Given the description of an element on the screen output the (x, y) to click on. 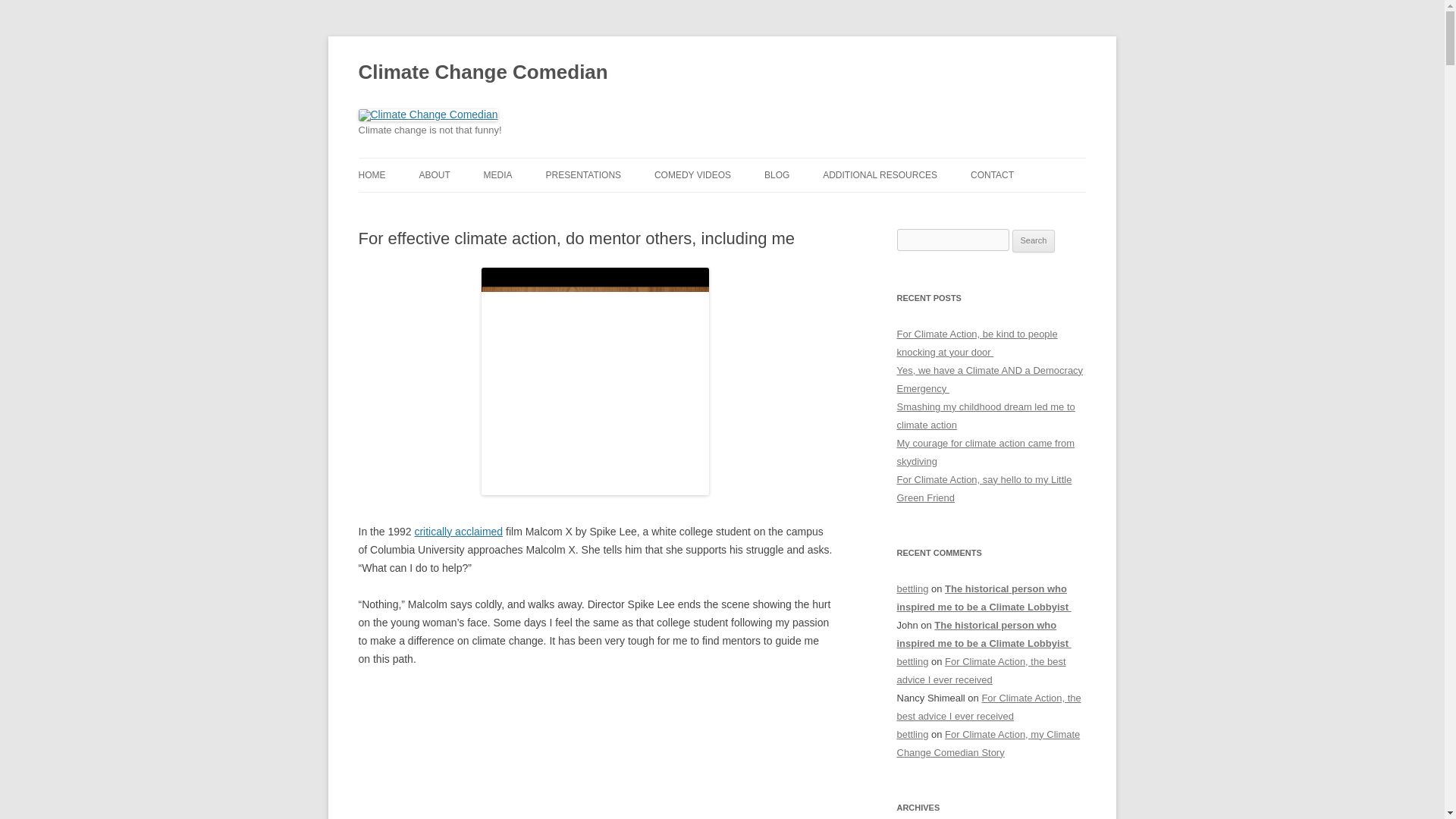
Climate Change Comedian (482, 72)
COMEDY VIDEOS (691, 174)
Search (1033, 241)
ABOUT (434, 174)
critically acclaimed (457, 531)
PRESENTATIONS (582, 174)
CONTACT (992, 174)
CLIMATE CHANGE ORGANIZATIONS (898, 215)
